Given the description of an element on the screen output the (x, y) to click on. 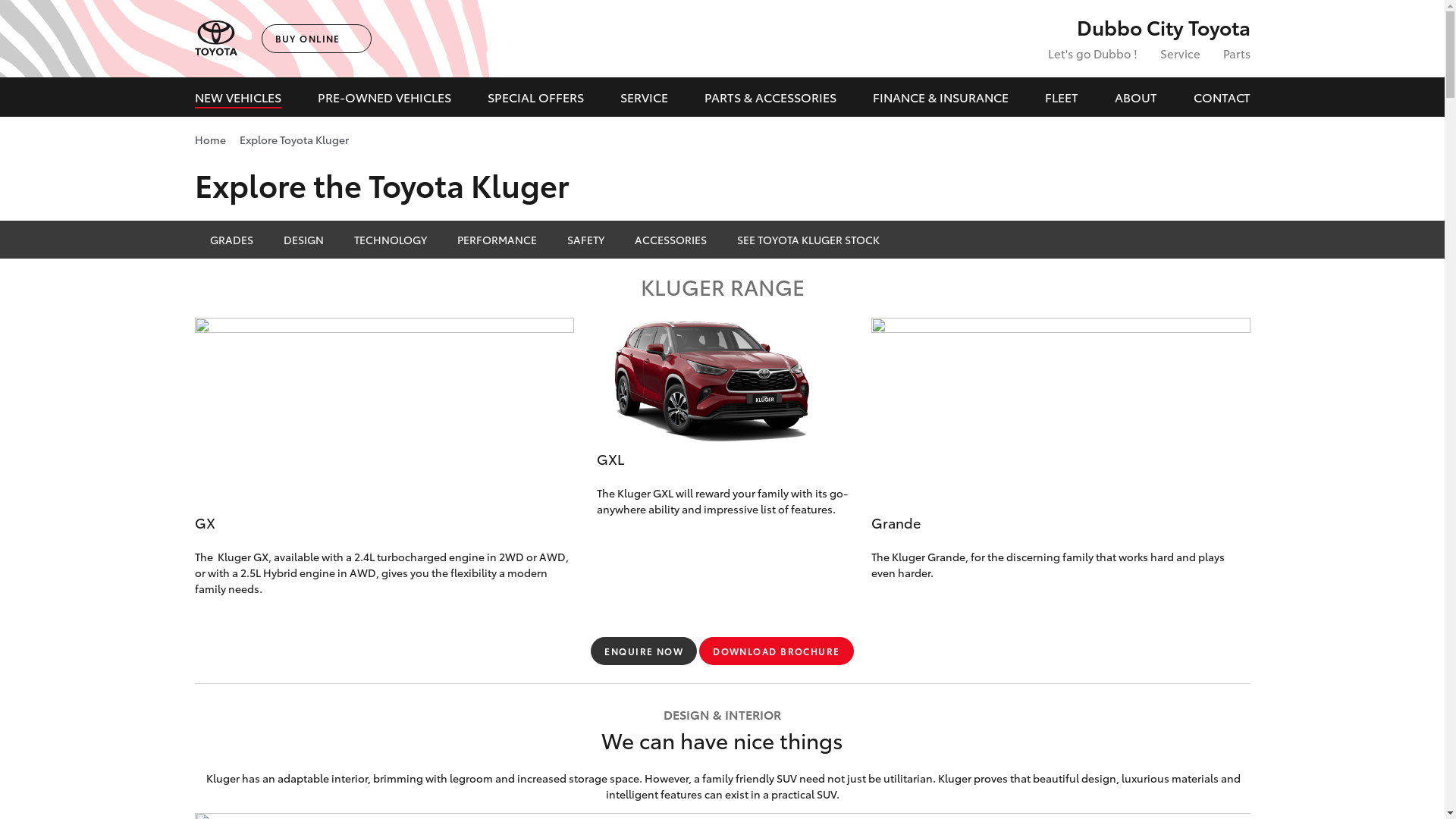
SPECIAL OFFERS Element type: text (534, 96)
SAFETY Element type: text (585, 239)
Let's go Dubbo ! Element type: text (1092, 52)
Explore Toyota Kluger Element type: text (293, 139)
BUY ONLINE Element type: text (315, 38)
PRE-OWNED VEHICLES Element type: text (383, 96)
GRADES Element type: text (230, 239)
DOWNLOAD BROCHURE Element type: text (776, 651)
SERVICE Element type: text (644, 96)
PERFORMANCE Element type: text (496, 239)
ENQUIRE NOW Element type: text (643, 651)
NEW VEHICLES Element type: text (237, 96)
SEE TOYOTA KLUGER STOCK Element type: text (807, 239)
FLEET Element type: text (1061, 96)
FINANCE & INSURANCE Element type: text (939, 96)
PARTS & ACCESSORIES Element type: text (769, 96)
ACCESSORIES Element type: text (669, 239)
Home Element type: text (209, 139)
ABOUT Element type: text (1135, 96)
DESIGN Element type: text (303, 239)
Dubbo City Toyota Element type: text (1137, 26)
Service Element type: text (1180, 52)
CONTACT Element type: text (1221, 96)
Parts Element type: text (1235, 52)
TECHNOLOGY Element type: text (389, 239)
